Given the description of an element on the screen output the (x, y) to click on. 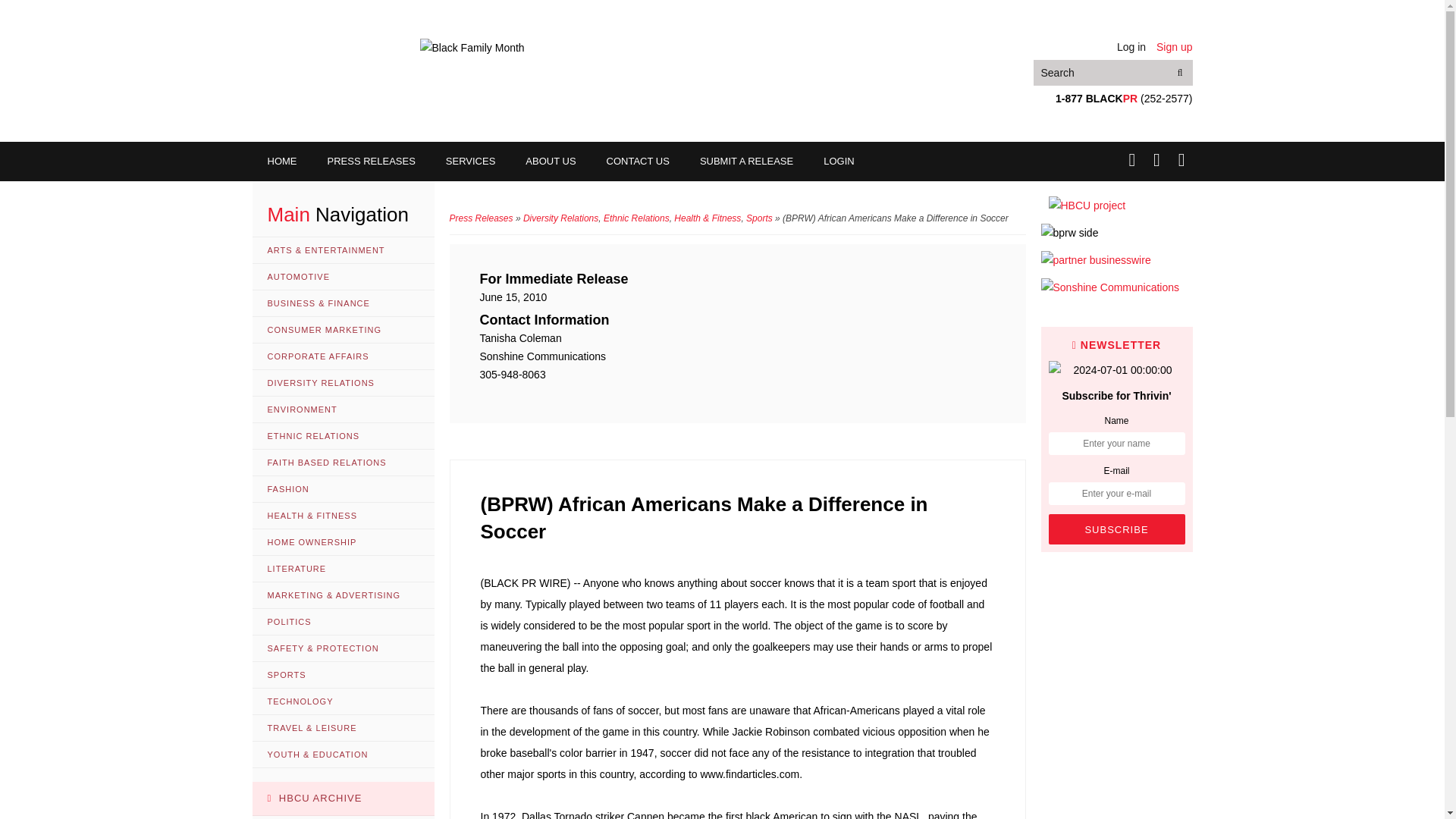
SERVICES (470, 160)
CONTACT US (637, 160)
CORPORATE AFFAIRS (342, 356)
DIVERSITY RELATIONS (342, 383)
CONSUMER MARKETING (342, 329)
SPORTS (342, 674)
LOGIN (838, 160)
SUBMIT A RELEASE (746, 160)
Sign up (1174, 46)
ABOUT US (551, 160)
HOME OWNERSHIP (342, 542)
Log in (1130, 46)
FAITH BASED RELATIONS (342, 462)
LITERATURE (342, 569)
POLITICS (342, 622)
